Given the description of an element on the screen output the (x, y) to click on. 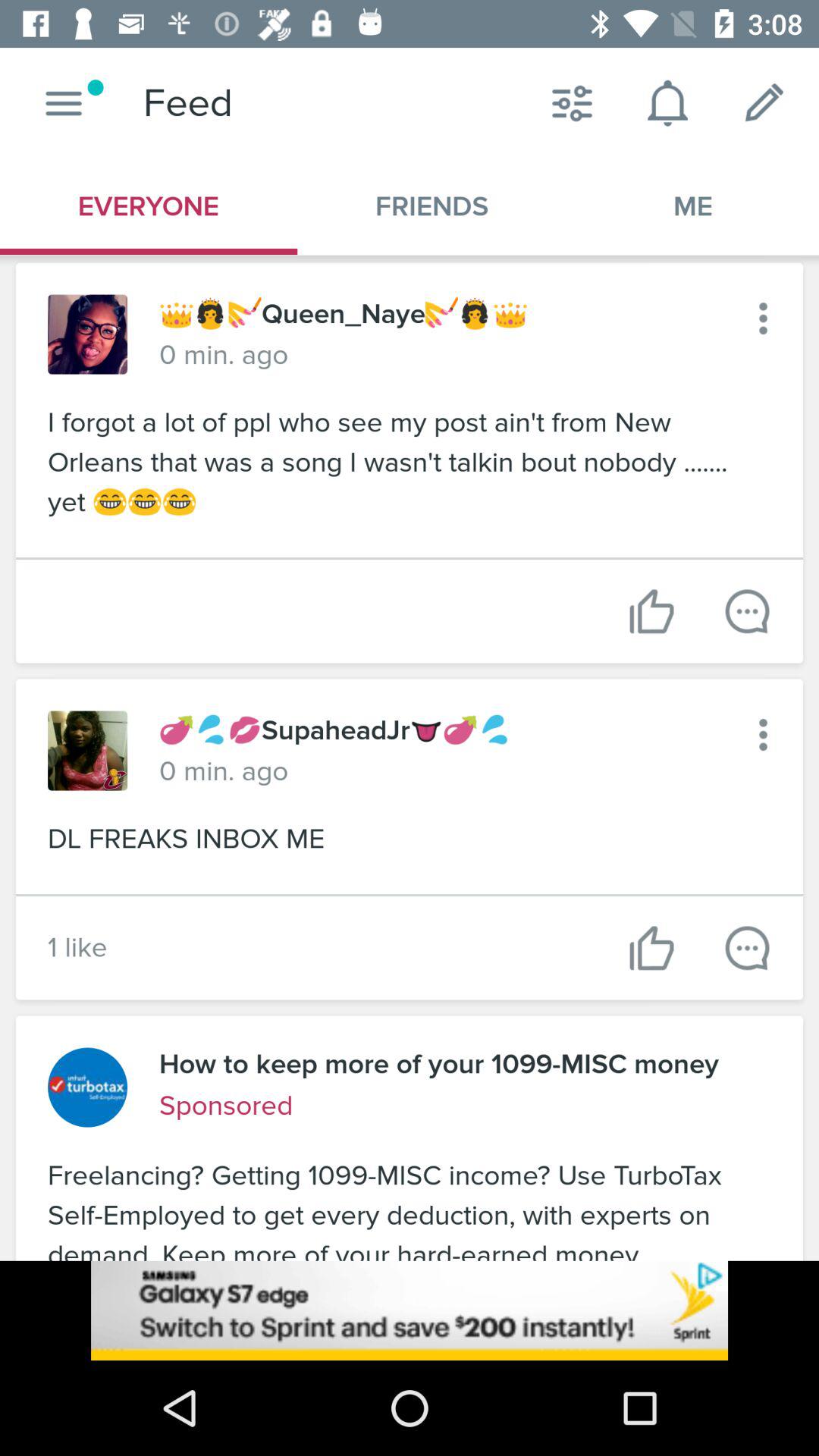
go to image (87, 334)
